Given the description of an element on the screen output the (x, y) to click on. 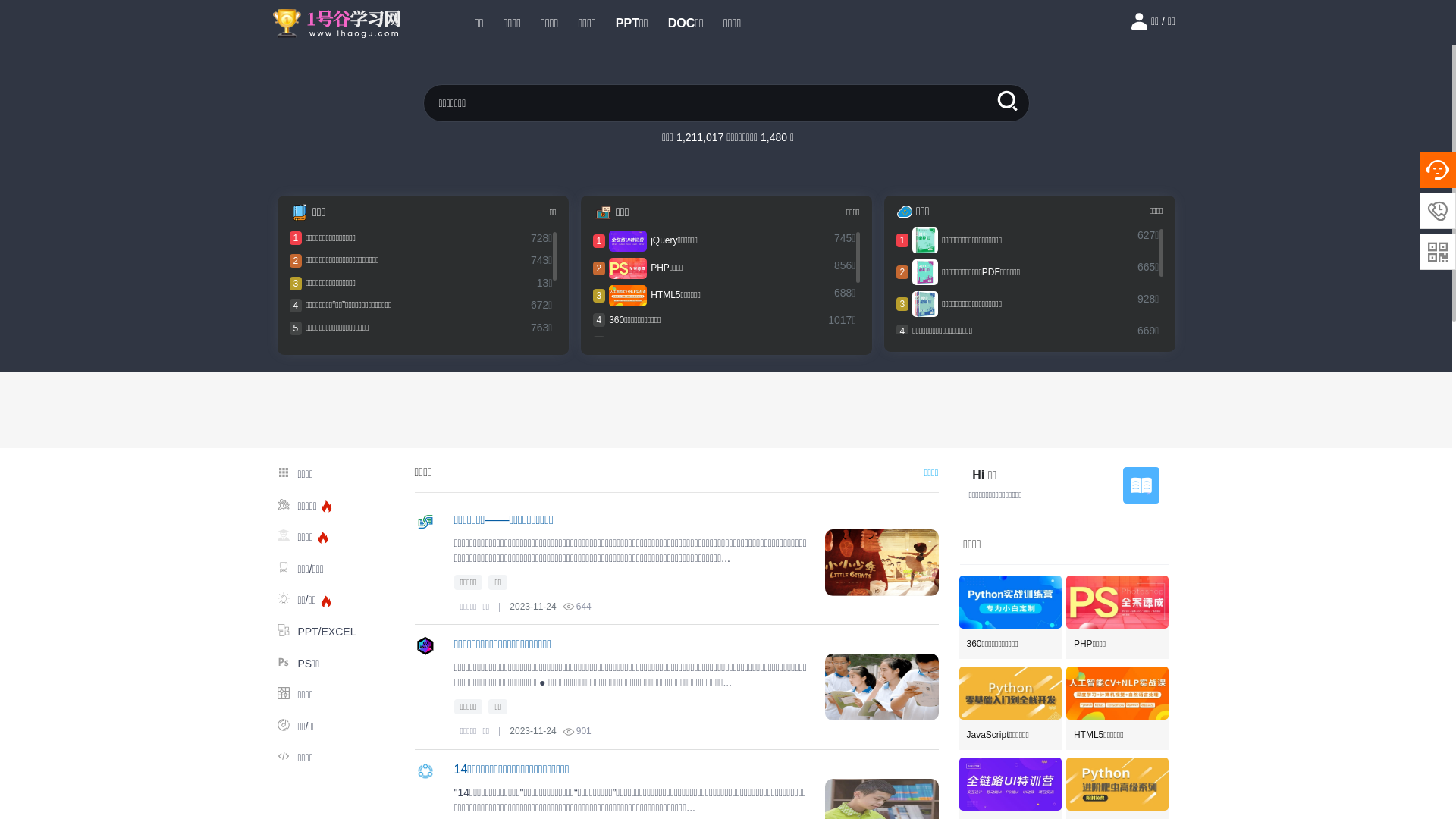
901 Element type: text (577, 731)
644 Element type: text (577, 606)
PPT/EXCEL Element type: text (339, 632)
